Given the description of an element on the screen output the (x, y) to click on. 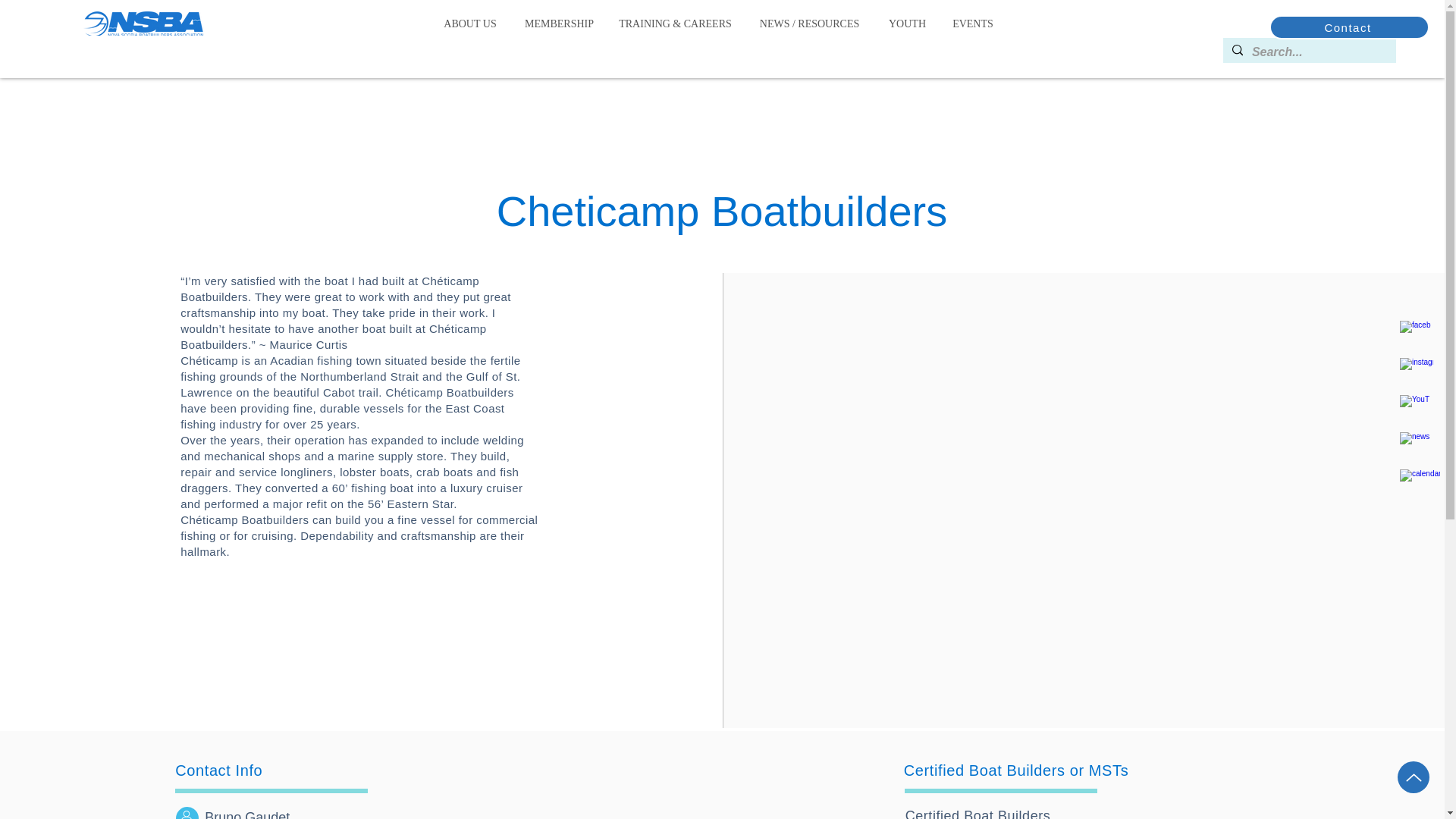
ABOUT US (470, 23)
EVENTS (972, 23)
Contact (1349, 27)
YOUTH (907, 23)
